Given the description of an element on the screen output the (x, y) to click on. 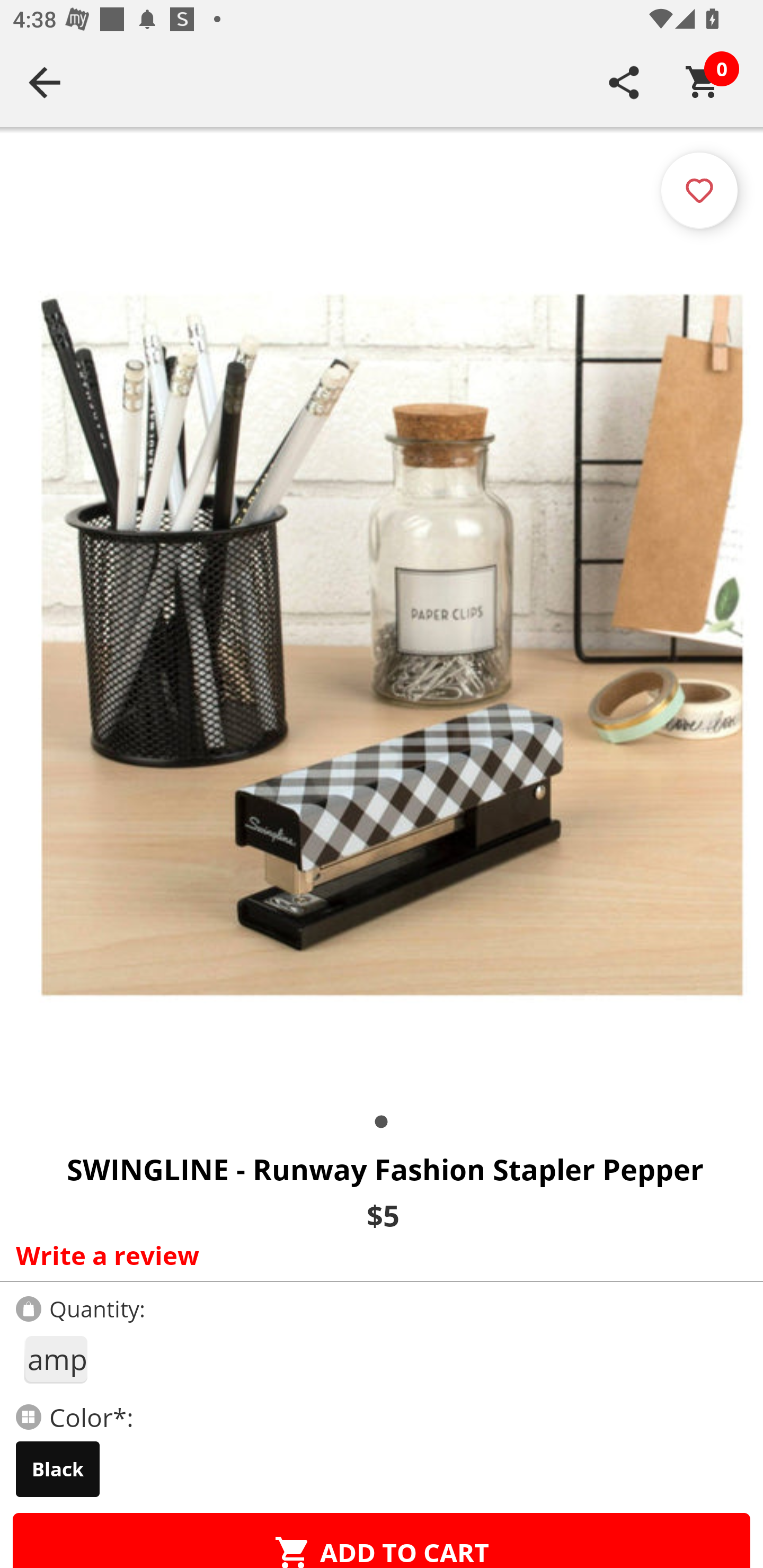
Navigate up (44, 82)
SHARE (623, 82)
Cart (703, 81)
Write a review (377, 1255)
1lamp (55, 1358)
Black (57, 1468)
ADD TO CART (381, 1540)
